Given the description of an element on the screen output the (x, y) to click on. 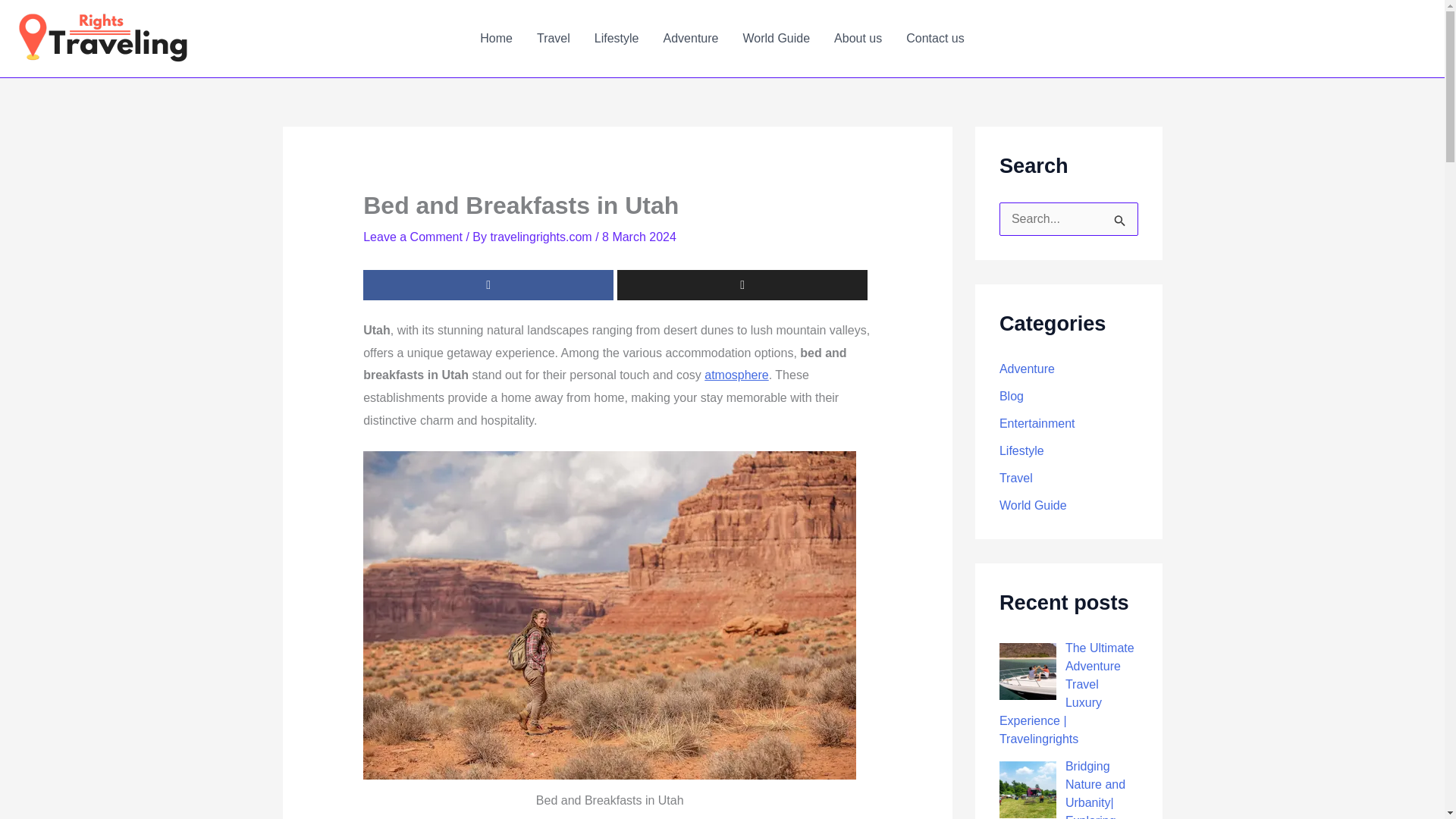
Contact us (934, 38)
Leave a Comment (412, 236)
travelingrights.com (542, 236)
Travel (553, 38)
Lifestyle (616, 38)
Adventure (690, 38)
atmosphere (736, 374)
Home (495, 38)
View all posts by travelingrights.com (542, 236)
